Given the description of an element on the screen output the (x, y) to click on. 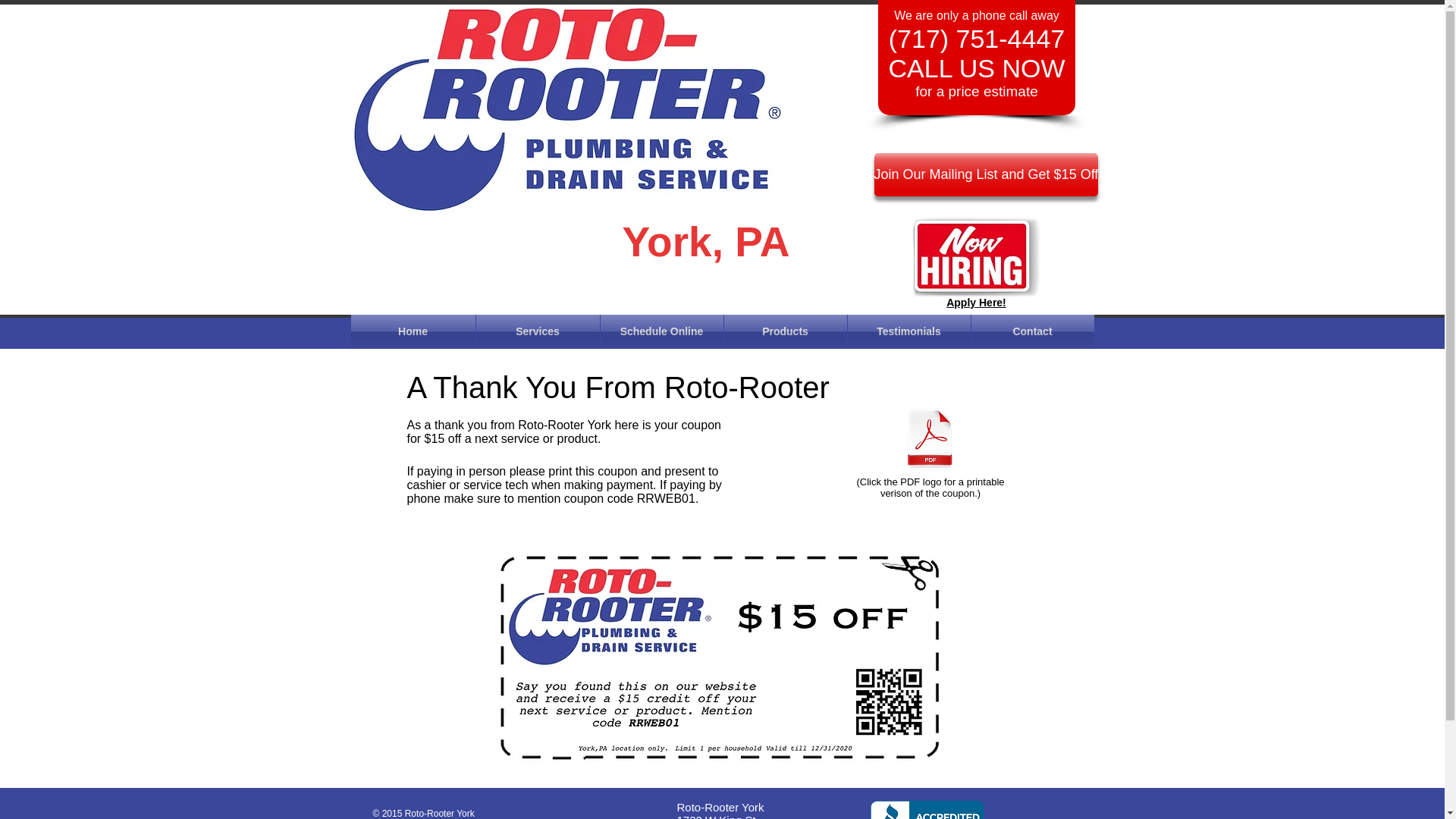
roto page cert.jpg (722, 655)
Home (412, 331)
Better Business Bureau (929, 808)
Contact (1032, 331)
roto cert.pdf (929, 439)
Roto-Rooter York (569, 109)
Testimonials (909, 331)
Services (537, 331)
Apply Here! (976, 302)
Schedule Online (661, 331)
